Given the description of an element on the screen output the (x, y) to click on. 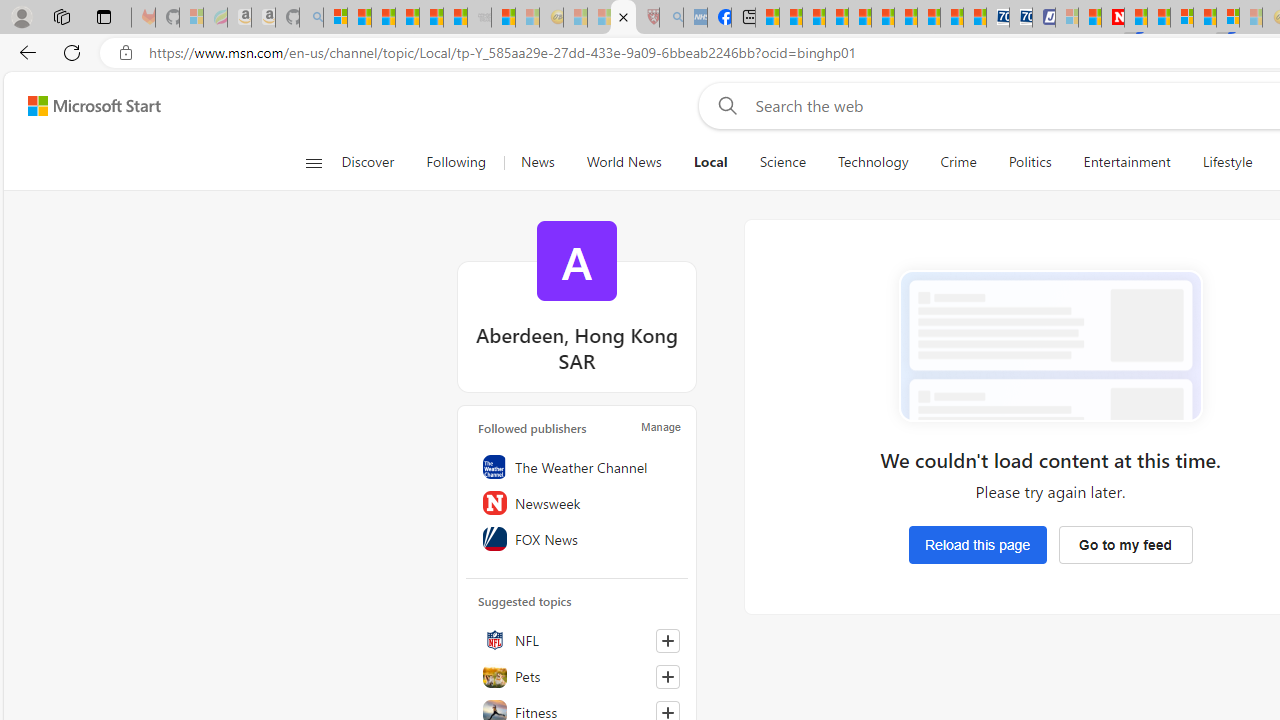
Follow this topic (667, 713)
Class: button-glyph (313, 162)
